Given the description of an element on the screen output the (x, y) to click on. 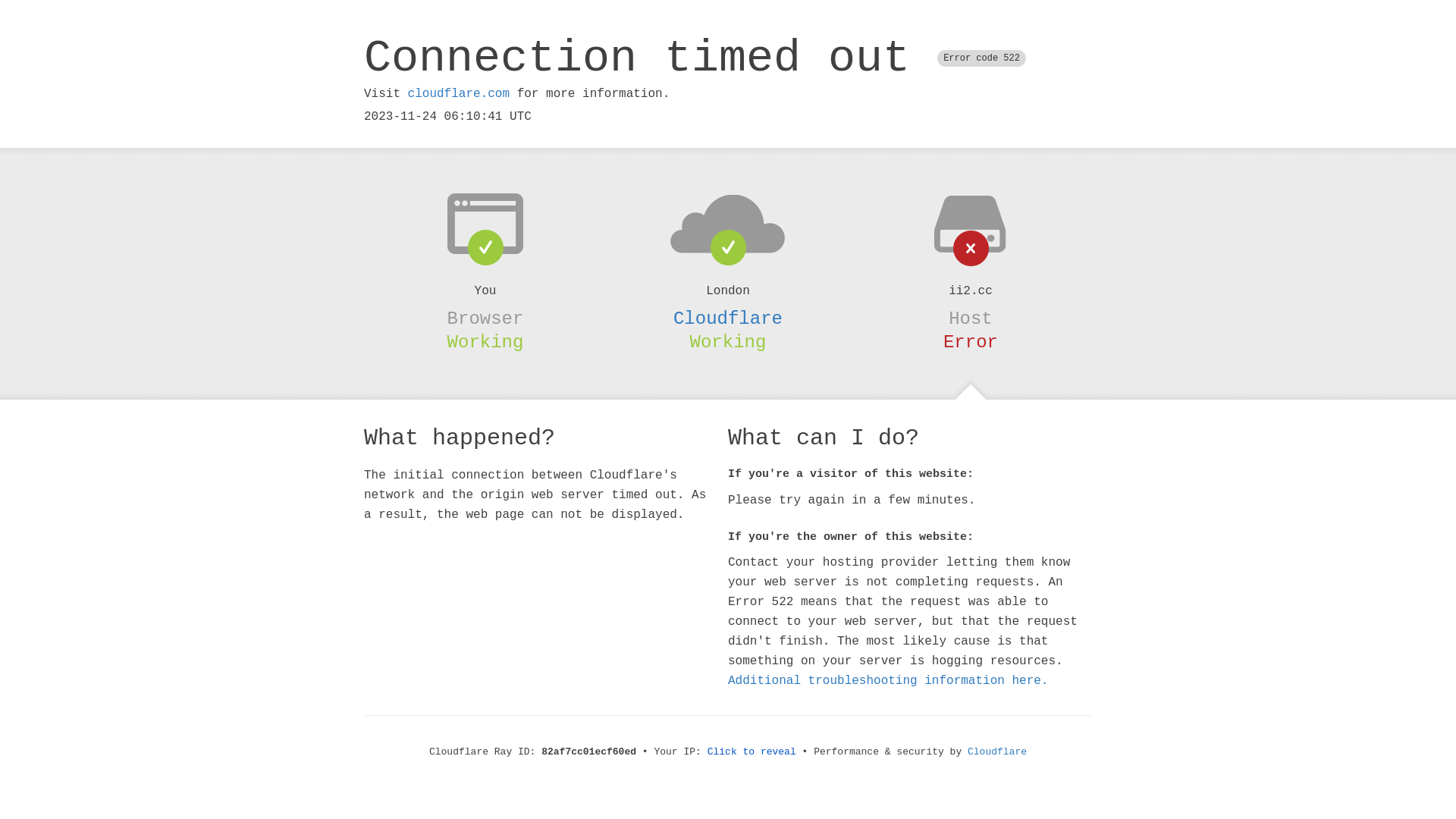
Additional troubleshooting information here. Element type: text (888, 680)
Click to reveal Element type: text (751, 751)
Cloudflare Element type: text (996, 751)
Cloudflare Element type: text (727, 318)
cloudflare.com Element type: text (458, 93)
